Given the description of an element on the screen output the (x, y) to click on. 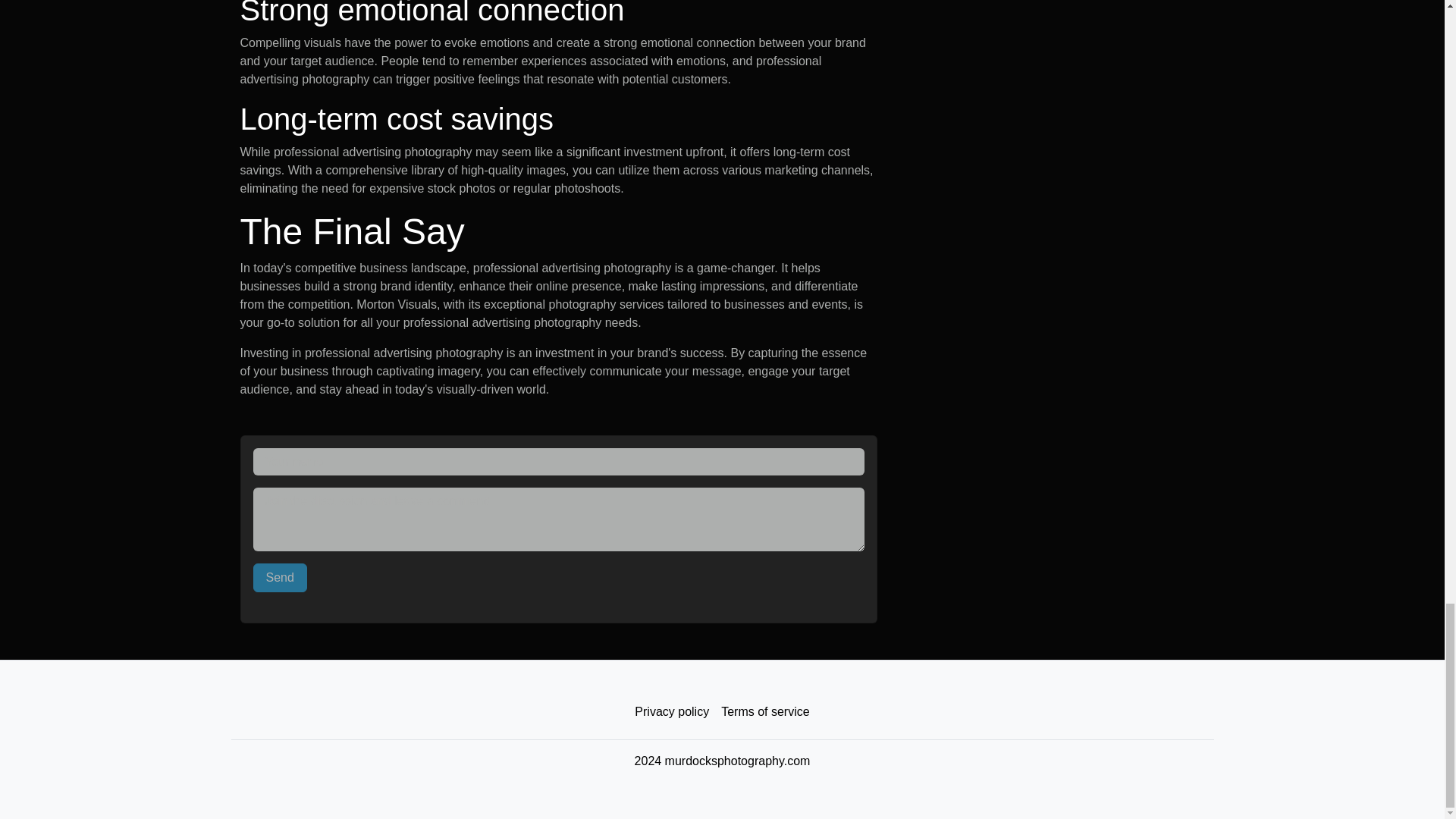
Privacy policy (671, 711)
Terms of service (764, 711)
Send (280, 577)
Send (280, 577)
